Given the description of an element on the screen output the (x, y) to click on. 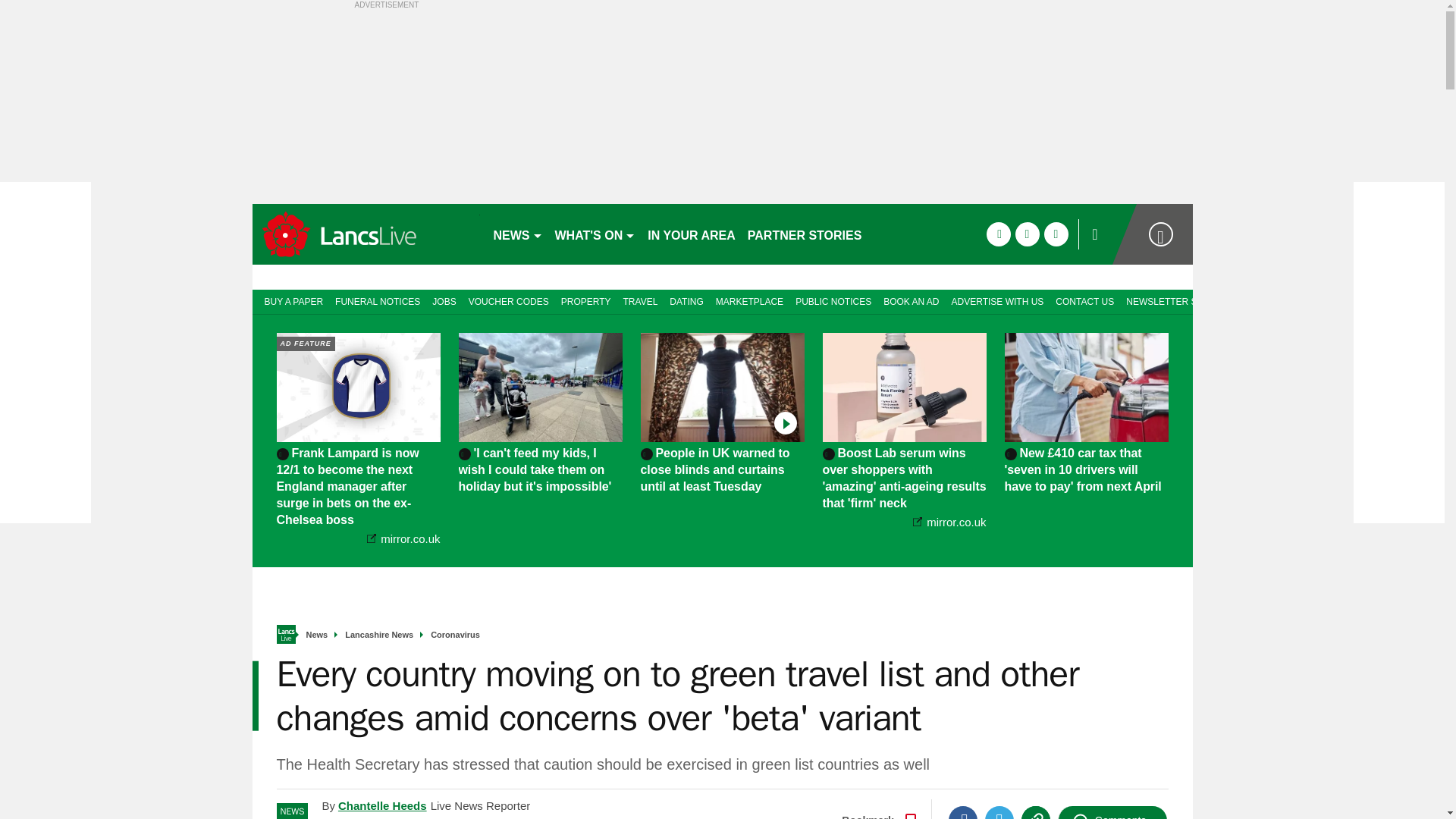
PARTNER STORIES (804, 233)
FUNERAL NOTICES (377, 300)
BUY A PAPER (290, 300)
BOOK AN AD (910, 300)
NEWS (517, 233)
VOUCHER CODES (508, 300)
ADVERTISE WITH US (996, 300)
WHAT'S ON (595, 233)
PROPERTY (585, 300)
MARKETPLACE (749, 300)
instagram (1055, 233)
Twitter (999, 812)
Comments (1112, 812)
TRAVEL (640, 300)
